Given the description of an element on the screen output the (x, y) to click on. 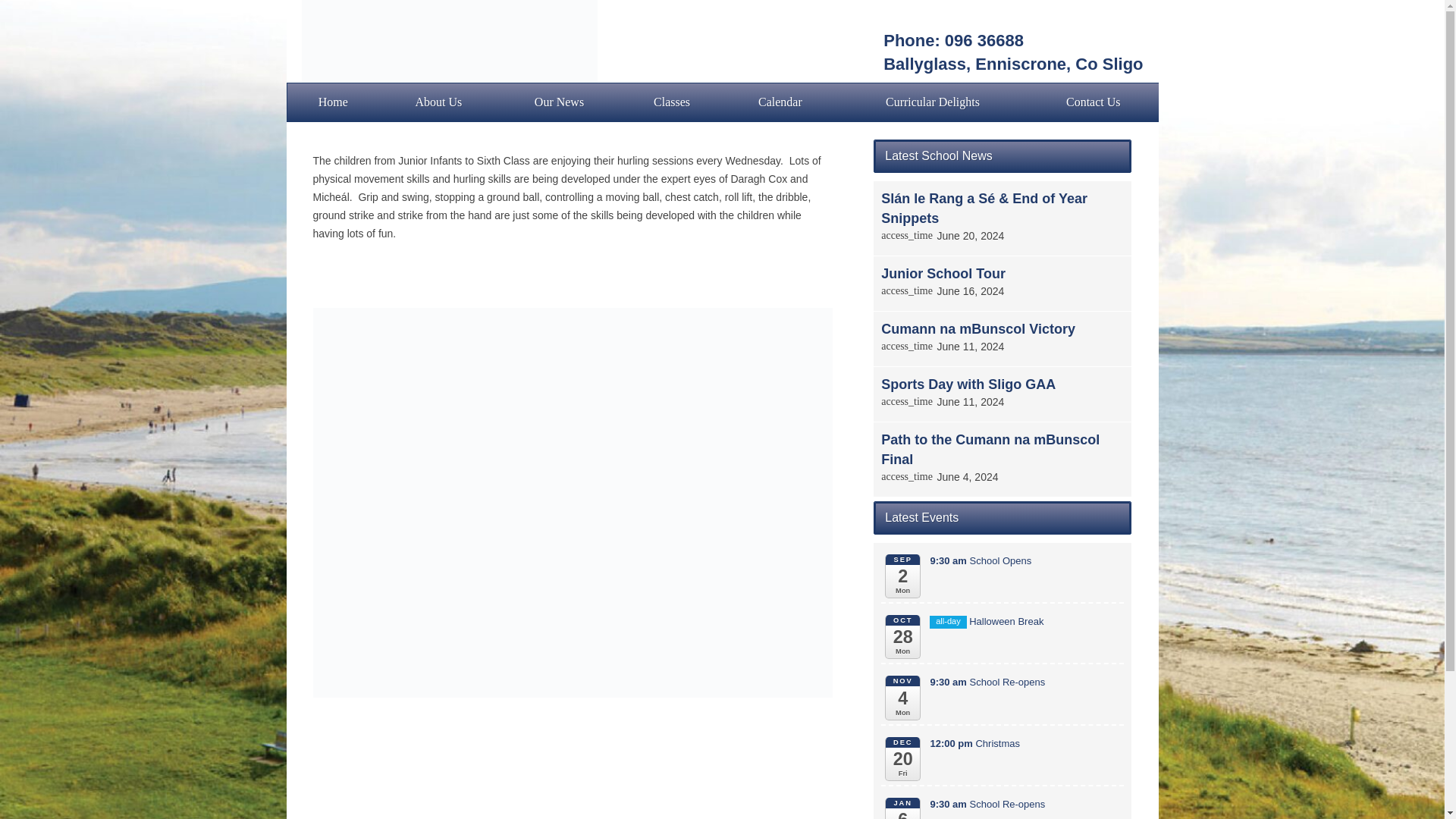
Contact Us (1092, 102)
Latest Events (1002, 517)
Home (332, 102)
Our News (559, 102)
About Us (437, 102)
Path to the Cumann na mBunscol Final (989, 449)
Curricular Delights (932, 102)
Sports Day with Sligo GAA (967, 384)
Classes (671, 102)
Latest School News (1002, 155)
